Given the description of an element on the screen output the (x, y) to click on. 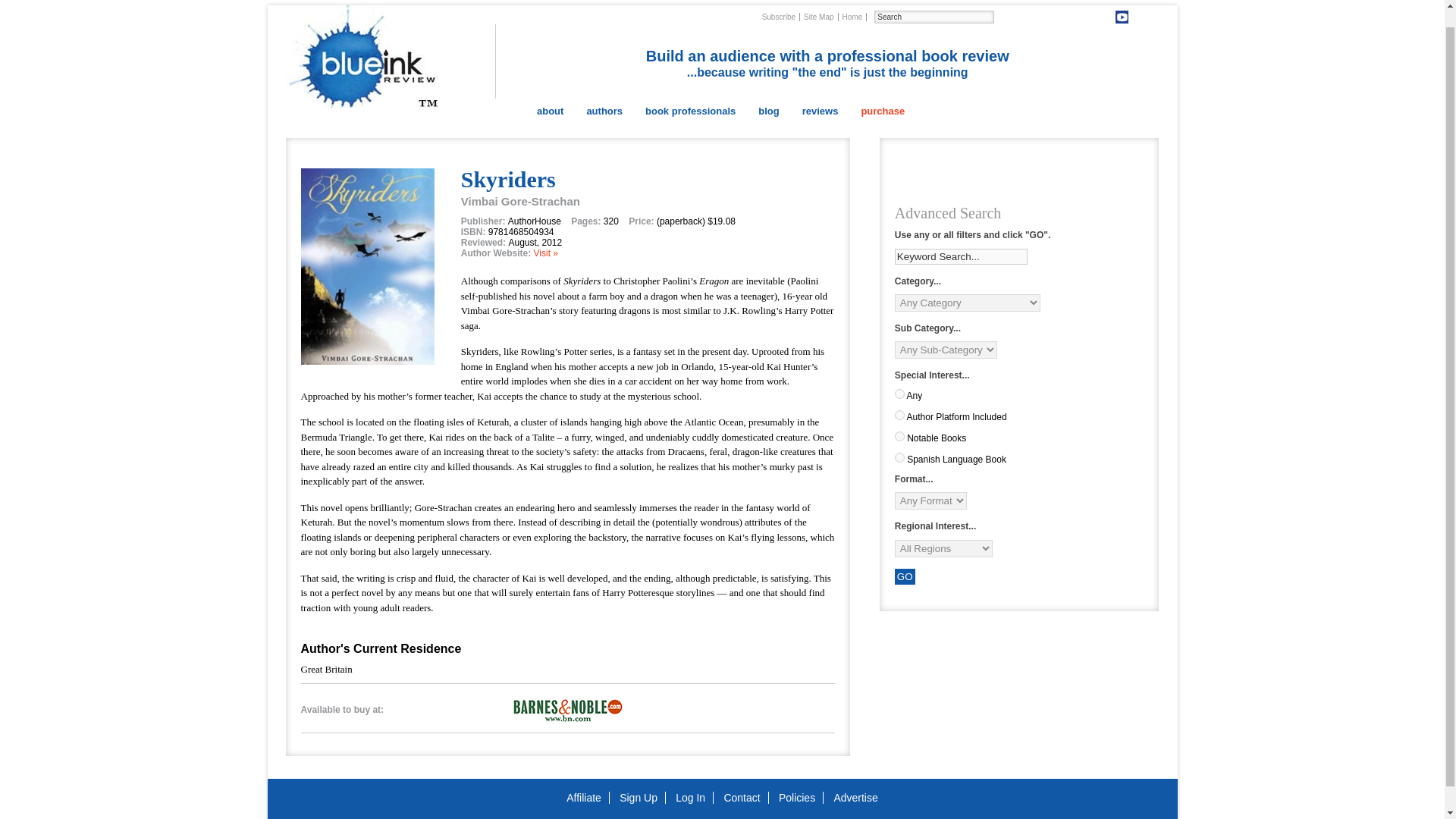
notable-books (899, 436)
Home (852, 17)
GO (905, 576)
Instagram (1136, 16)
YouTube (1121, 16)
Pinterest (1045, 16)
Site Map (818, 17)
Google Plus (1106, 16)
Subscribe (778, 17)
Facebook (1076, 16)
Twitter (1060, 16)
author-platform-included (899, 415)
about (550, 110)
